Given the description of an element on the screen output the (x, y) to click on. 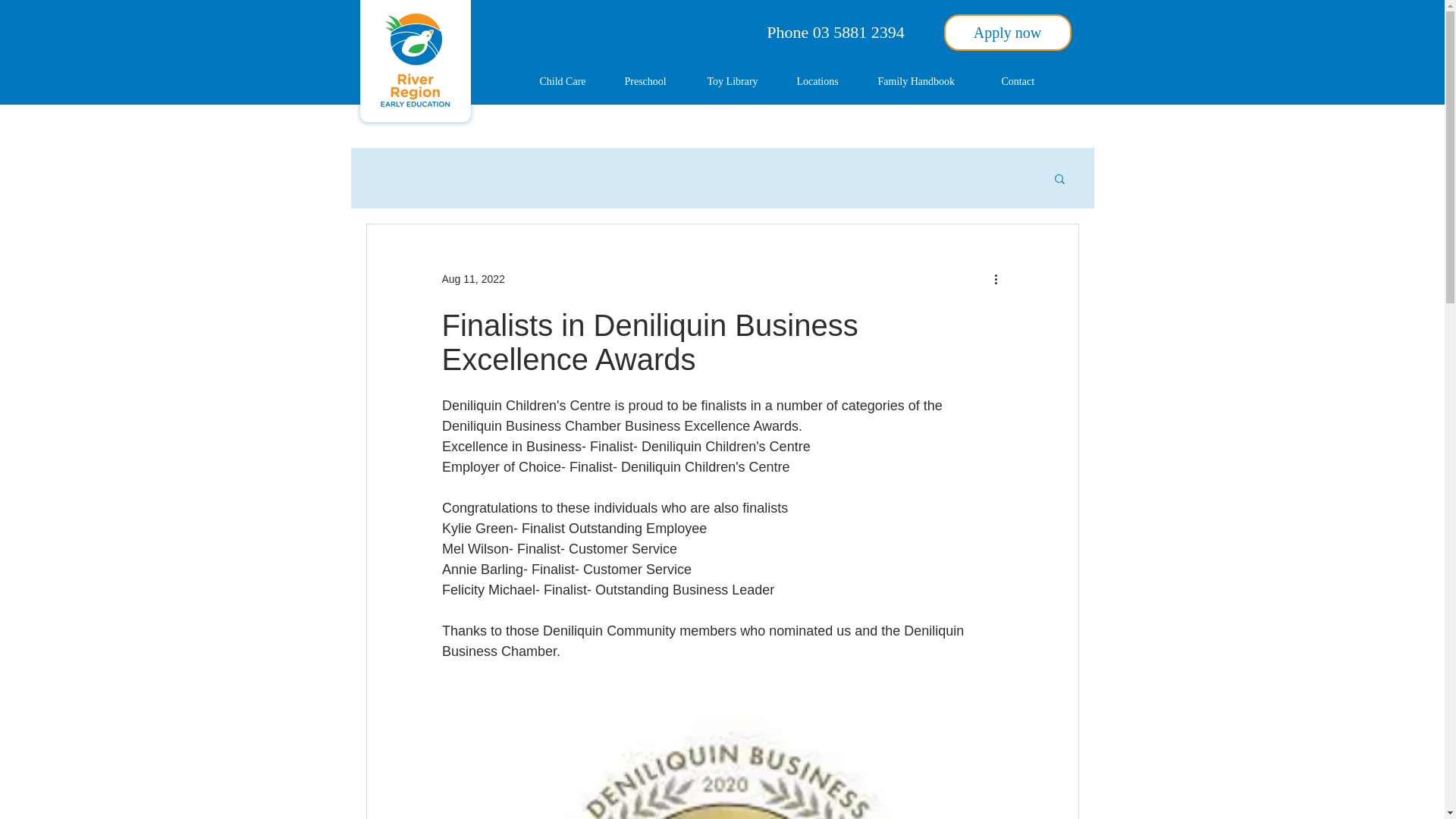
Phone 03 5881 2394 (835, 31)
Toy Library (740, 81)
Locations (826, 81)
Apply now (1006, 32)
Child Care (569, 81)
Preschool (653, 81)
Contact (1026, 81)
Family Handbook (928, 81)
Aug 11, 2022 (472, 278)
